Given the description of an element on the screen output the (x, y) to click on. 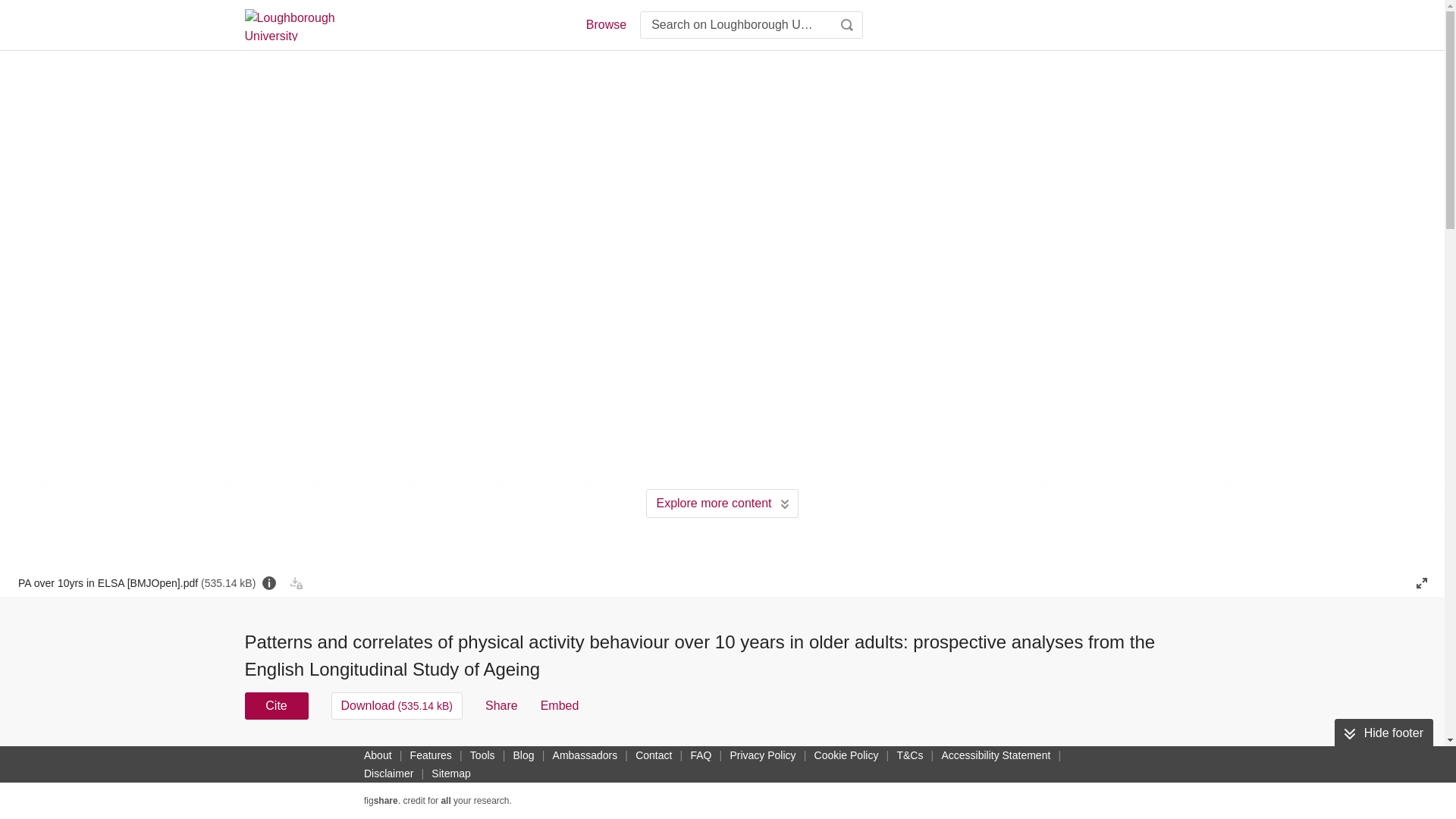
Explore more content (721, 502)
Tools (482, 755)
Embed (559, 705)
FAQ (700, 755)
Ambassadors (585, 755)
USAGE METRICS (976, 759)
Cookie Policy (846, 755)
Contact (653, 755)
Cite (275, 705)
About (377, 755)
Hide footer (1383, 733)
Share (501, 705)
Features (431, 755)
Privacy Policy (762, 755)
